Given the description of an element on the screen output the (x, y) to click on. 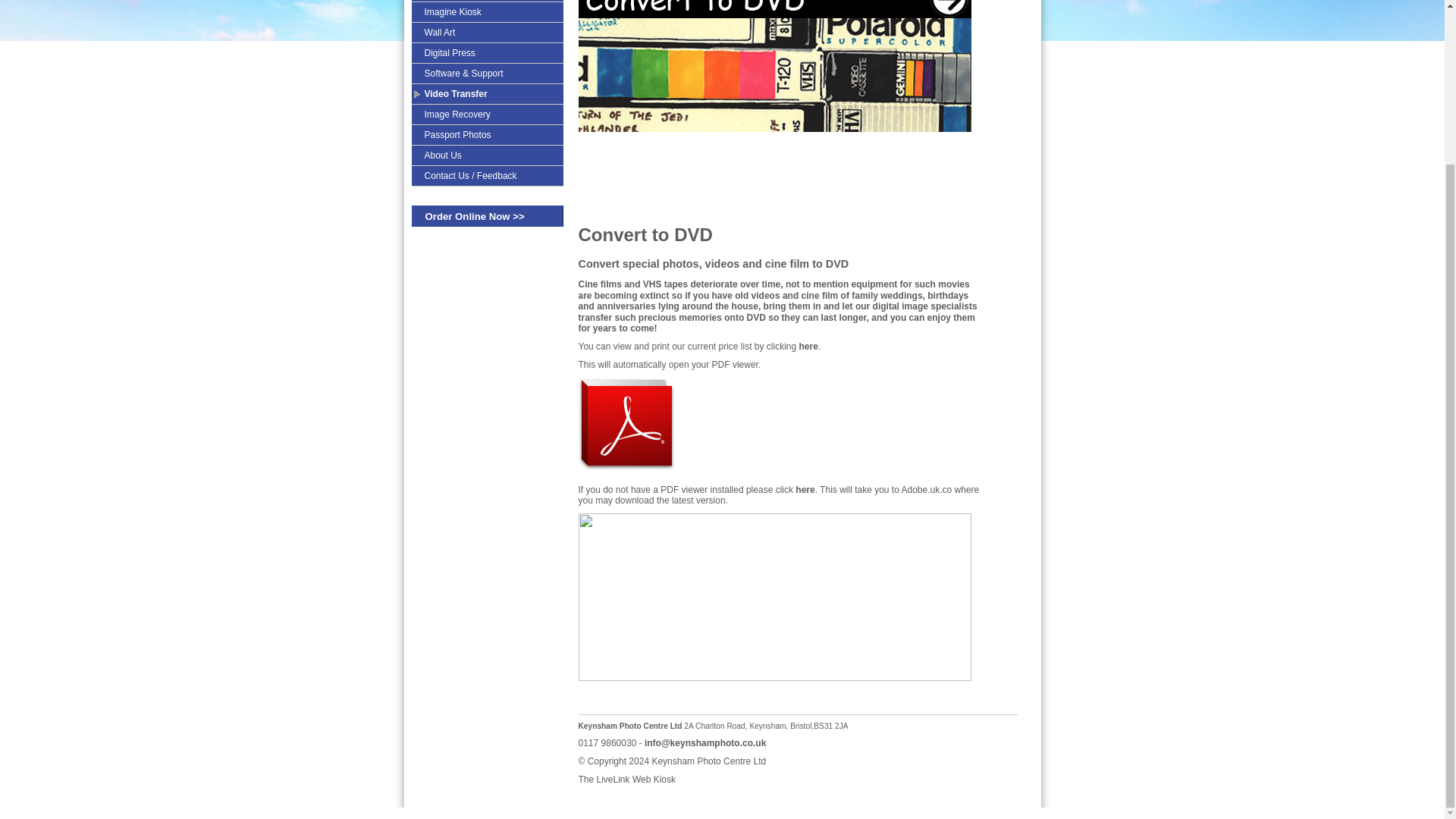
Passport Photos (486, 134)
here (808, 346)
Convert special photos, videos and cine film to DVD (713, 263)
LiveLink Web Kiosk (636, 778)
Imagine Kiosk (486, 11)
Image Recovery (486, 113)
here (803, 489)
About Us (486, 154)
Digital Press (486, 52)
Video Transfer (486, 93)
Wall Art (486, 32)
Convert to DVD (644, 234)
